Given the description of an element on the screen output the (x, y) to click on. 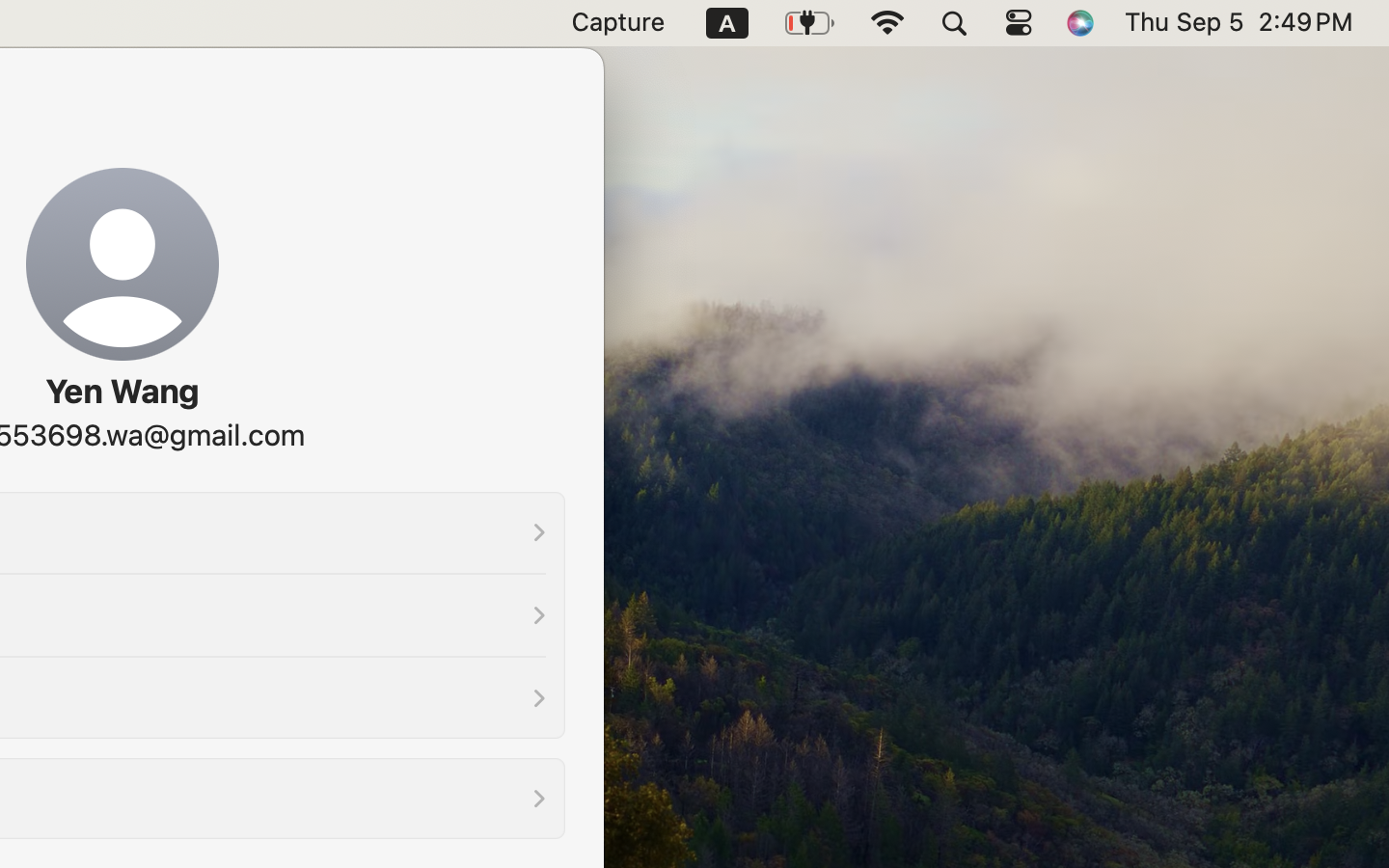
Yen Wang Element type: AXStaticText (121, 391)
